Given the description of an element on the screen output the (x, y) to click on. 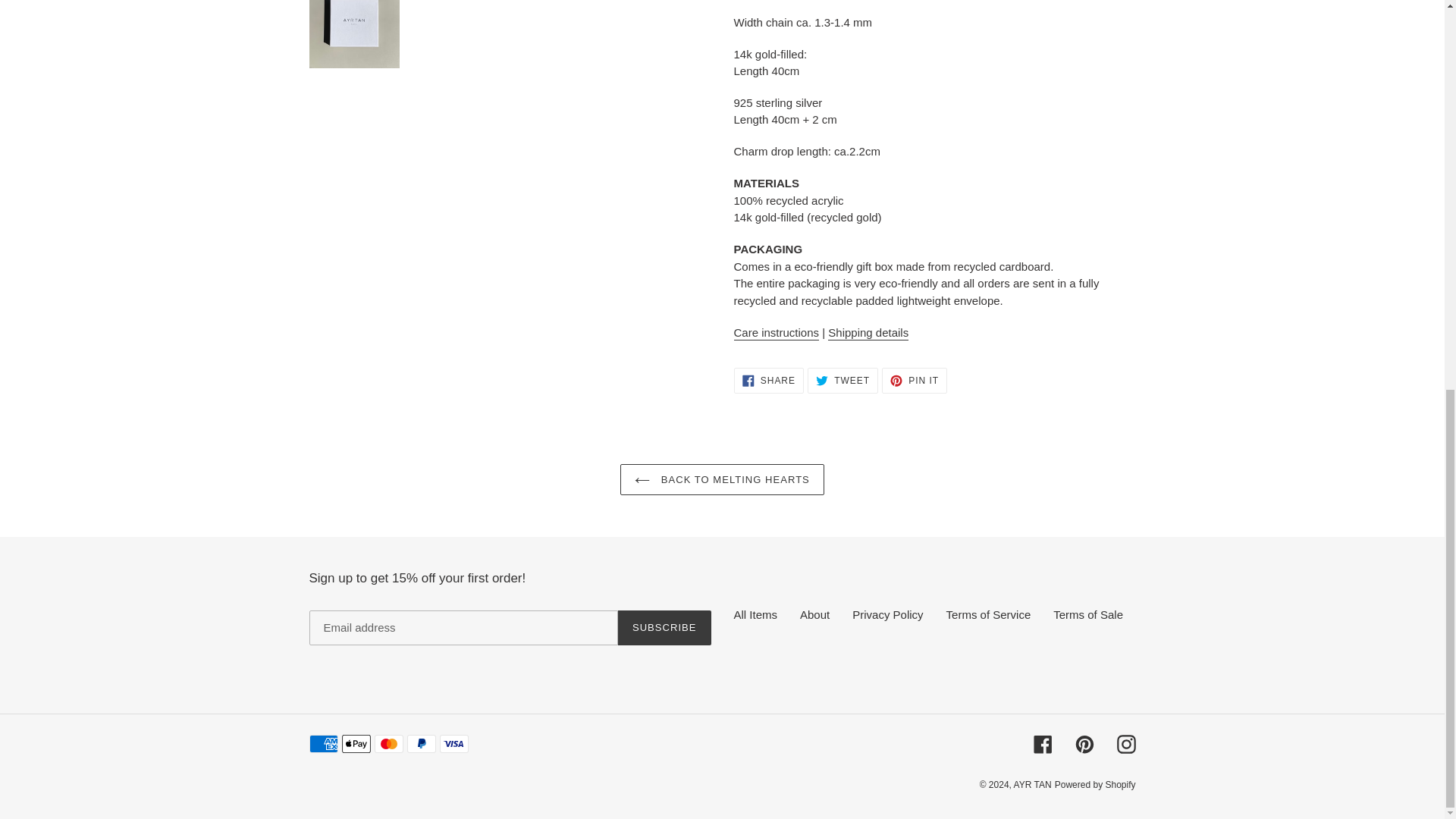
Care instructions (776, 332)
Shipping Details (868, 332)
